Given the description of an element on the screen output the (x, y) to click on. 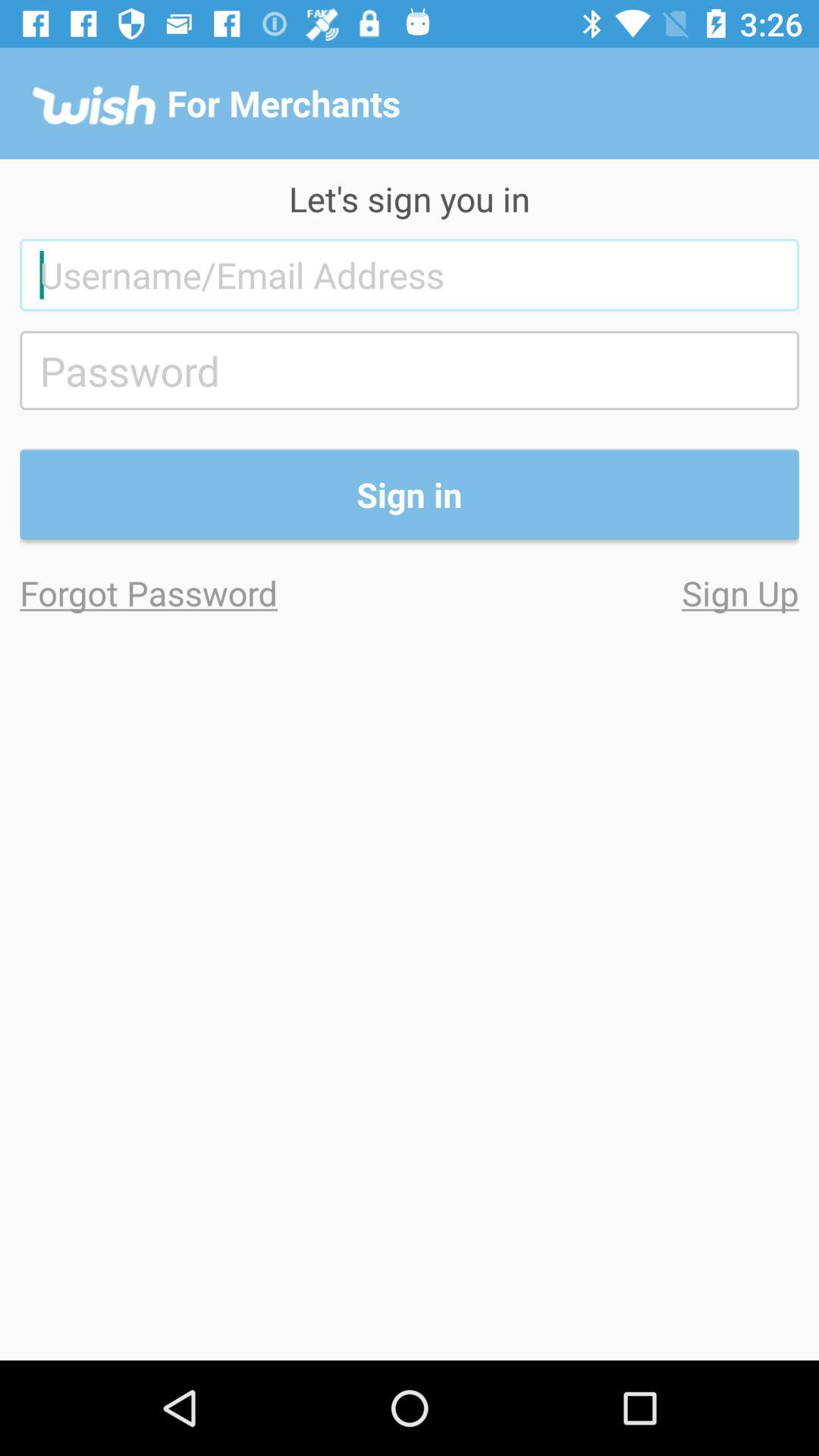
jump until the sign up icon (604, 592)
